Given the description of an element on the screen output the (x, y) to click on. 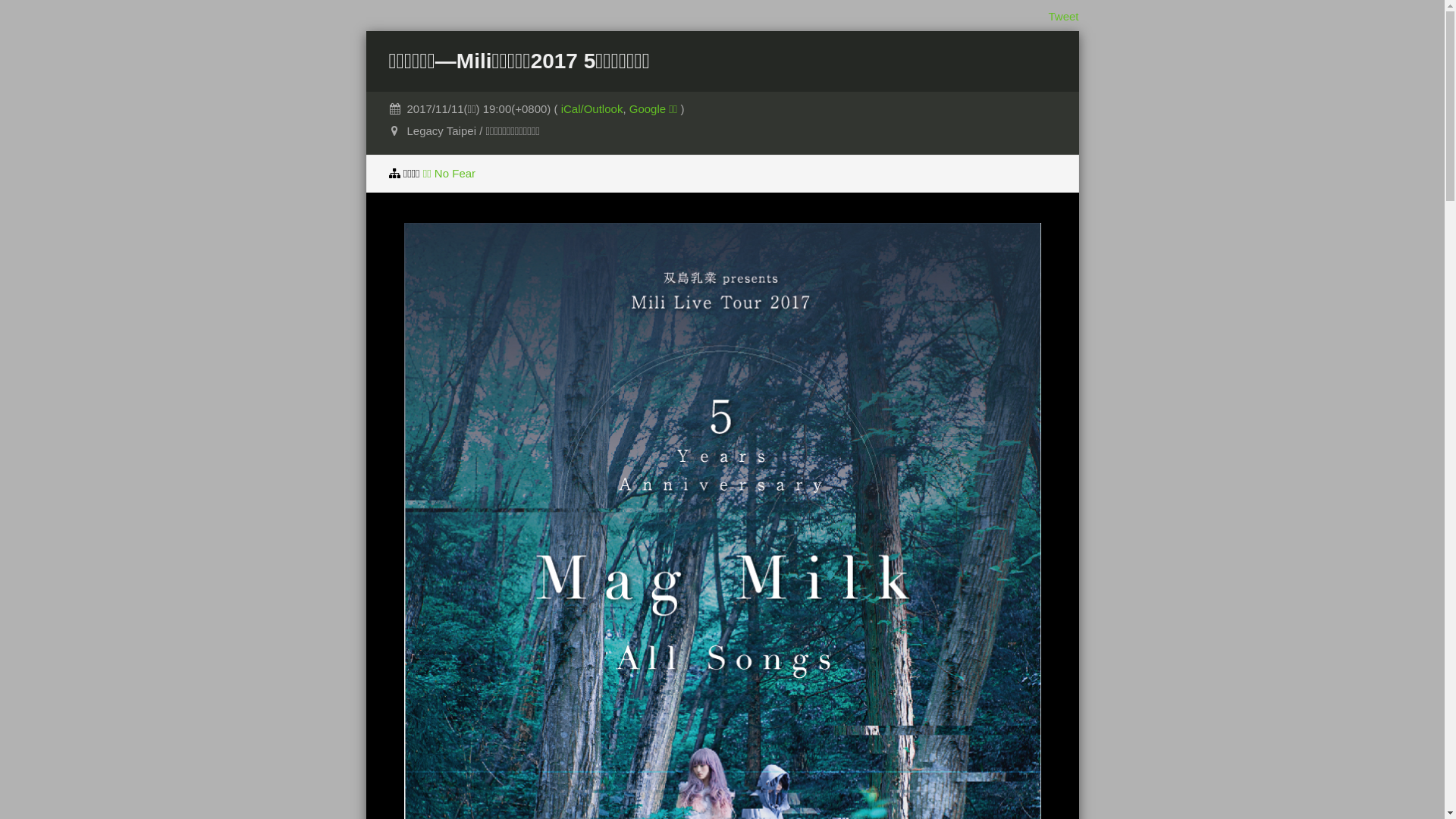
Tweet Element type: text (1063, 15)
iCal/Outlook Element type: text (592, 108)
